Given the description of an element on the screen output the (x, y) to click on. 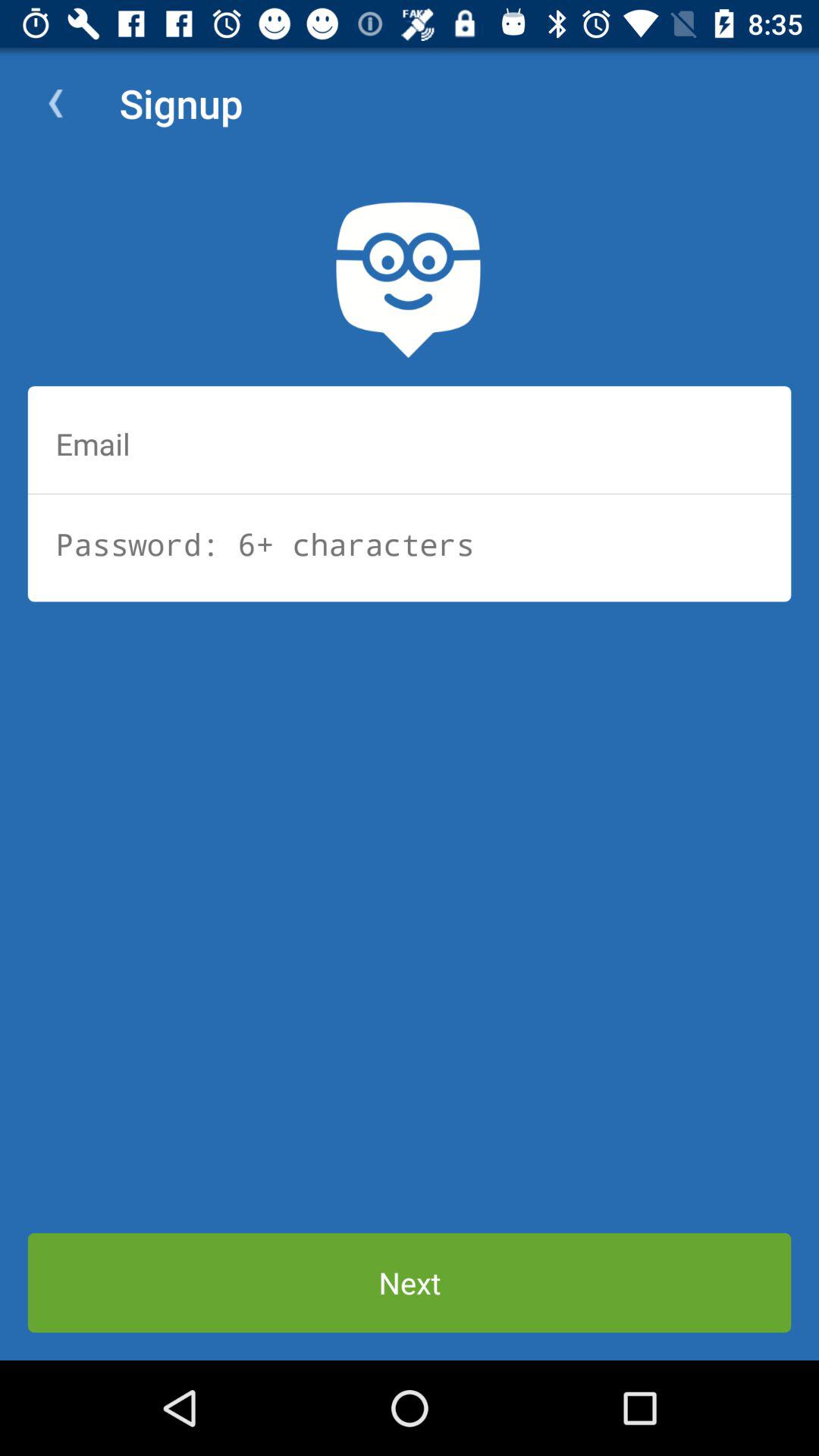
choose app to the left of signup icon (55, 103)
